Given the description of an element on the screen output the (x, y) to click on. 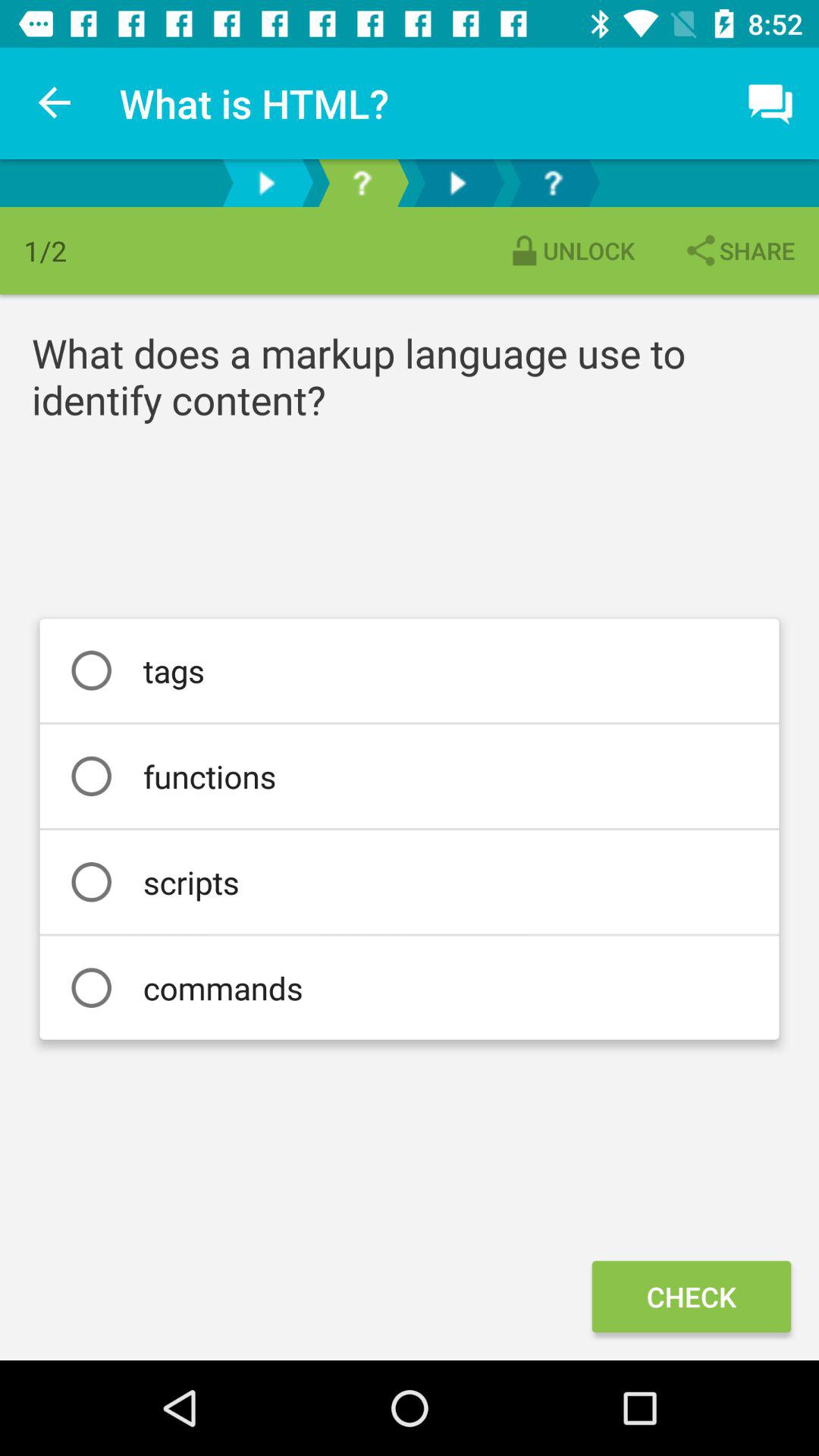
next (457, 183)
